Given the description of an element on the screen output the (x, y) to click on. 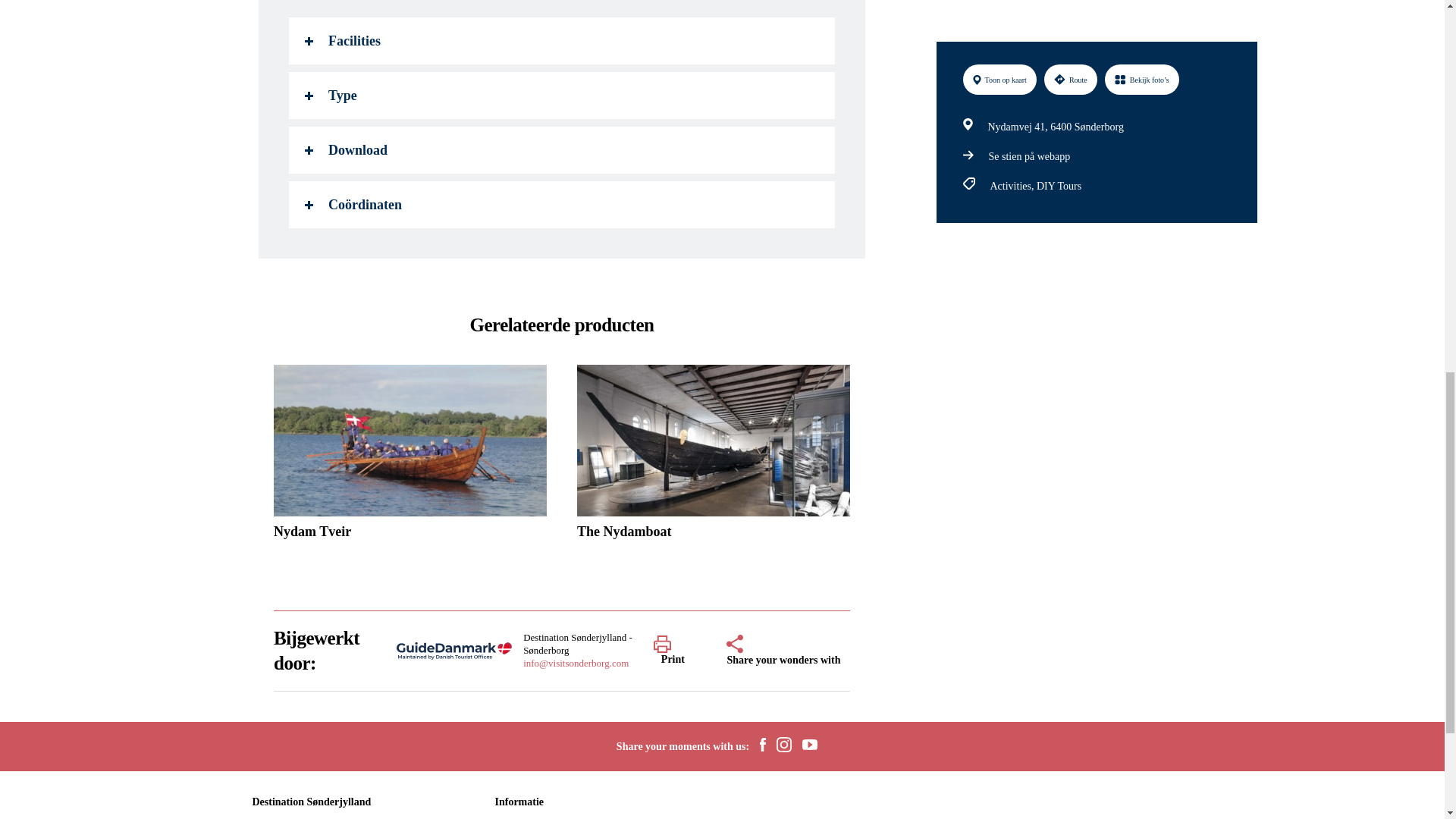
youtube (809, 746)
facebook (762, 746)
Download (561, 149)
Facilities (561, 40)
Type (561, 95)
Nydam Tveir (410, 456)
instagram (783, 746)
The Nydamboat (713, 456)
